Given the description of an element on the screen output the (x, y) to click on. 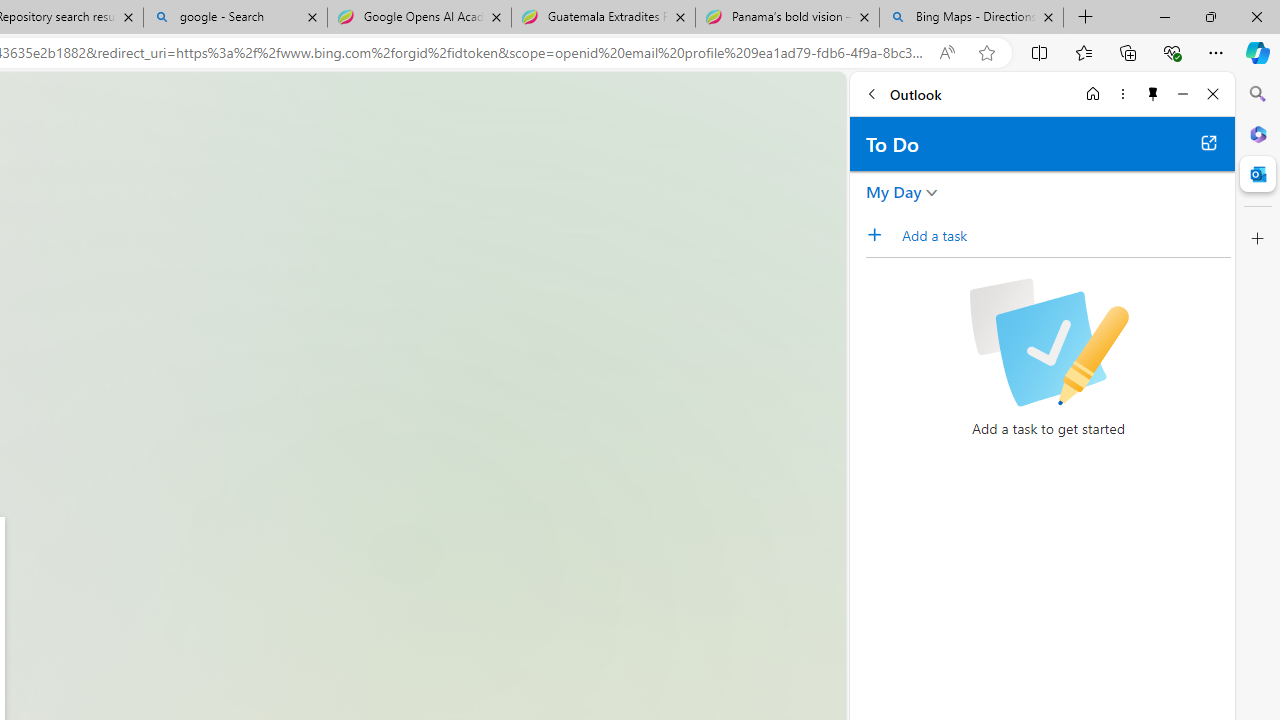
Add a task (1065, 235)
Unpin side pane (1153, 93)
